Given the description of an element on the screen output the (x, y) to click on. 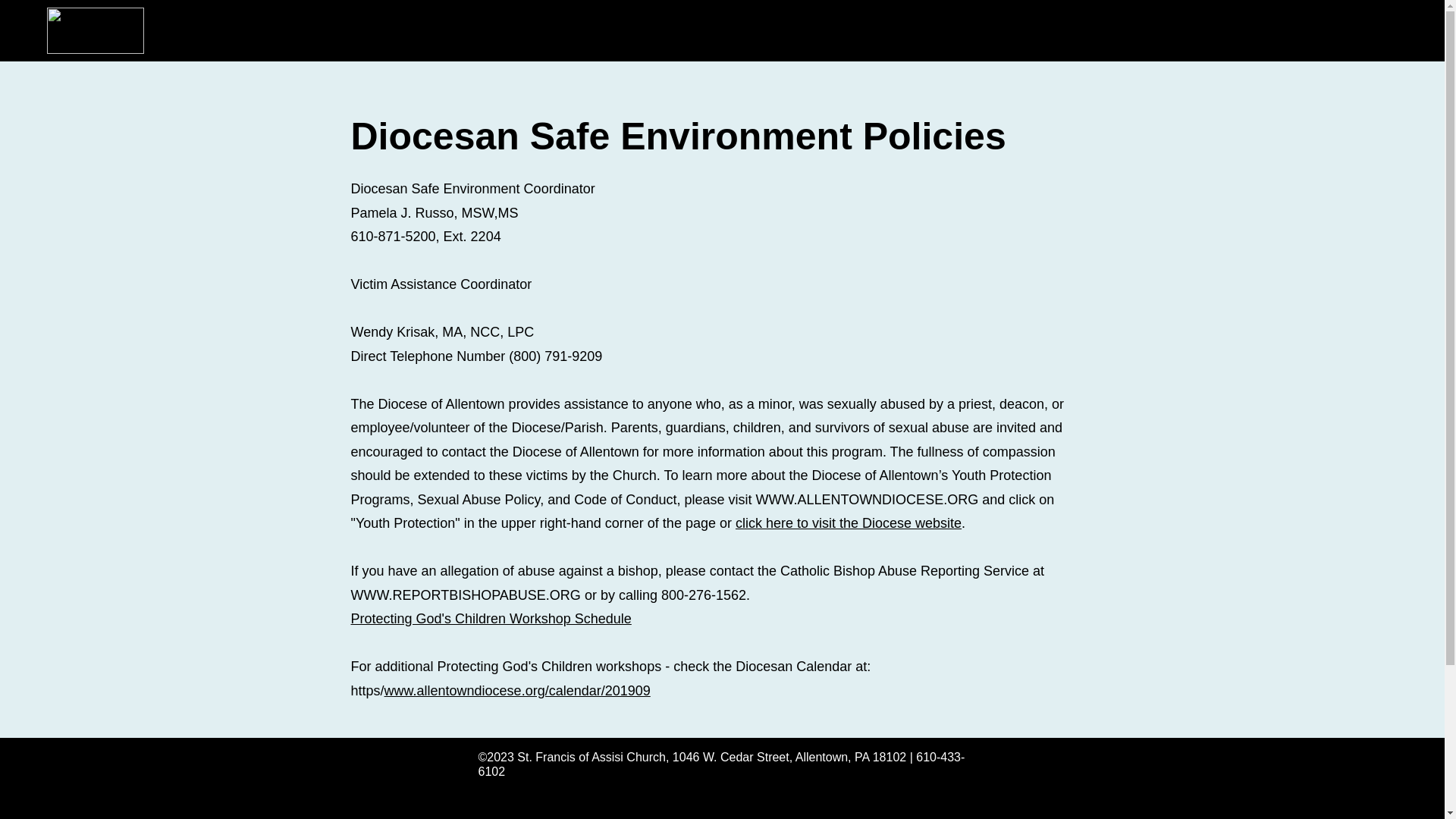
WWW.REPORTBISHOPABUSE.ORG (464, 594)
WWW.ALLENTOWNDIOCESE.ORG (866, 498)
St-Francis-Logo-update.jpg (95, 30)
Protecting God's Children Workshop Schedule (490, 618)
click here to visit the Diocese website (847, 522)
